Given the description of an element on the screen output the (x, y) to click on. 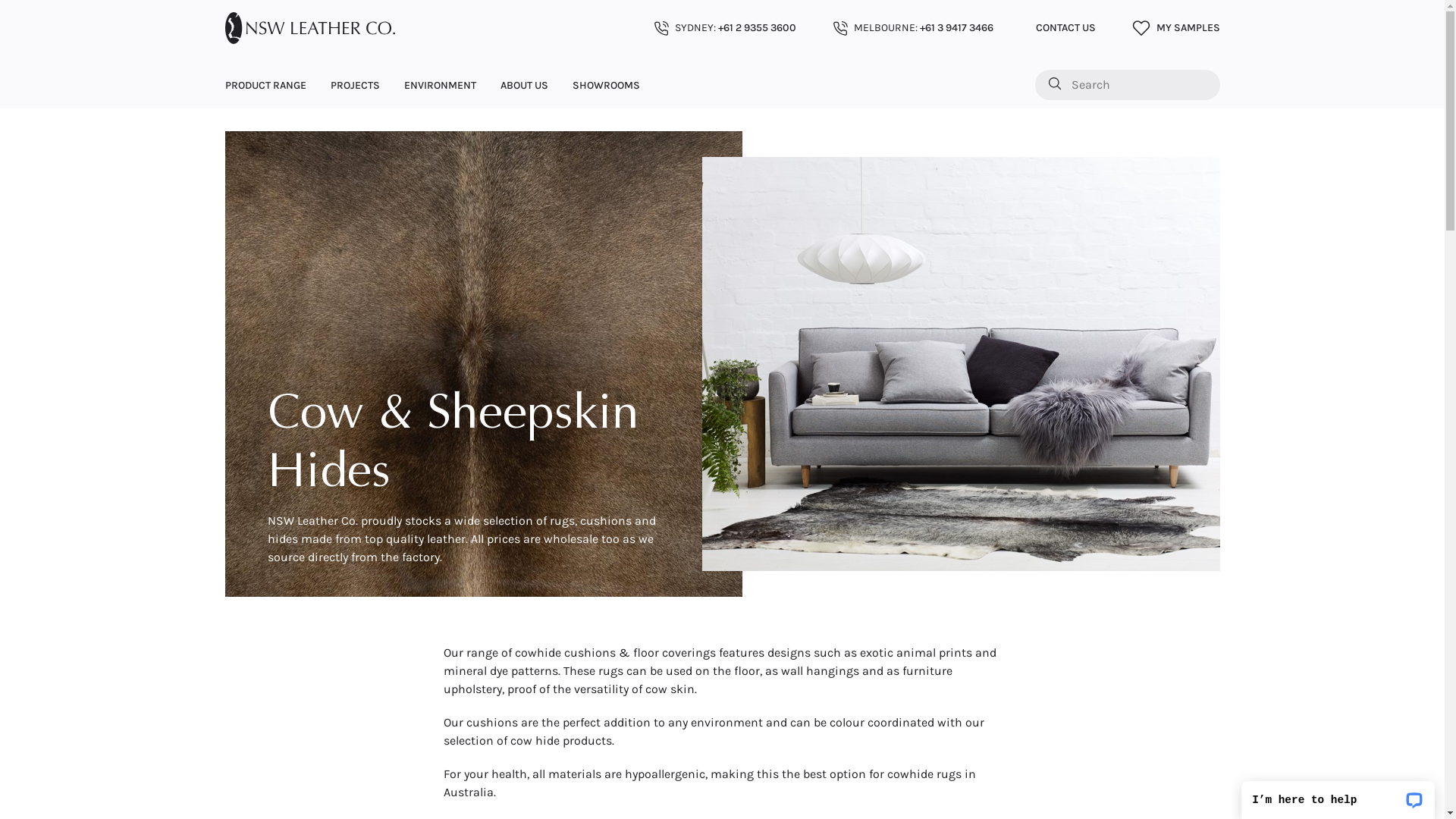
ABOUT US Element type: text (524, 84)
SHOWROOMS Element type: text (605, 84)
PROJECTS Element type: text (354, 84)
MELBOURNE: +61 3 9417 3466 Element type: text (912, 27)
ENVIRONMENT Element type: text (439, 84)
SYDNEY: +61 2 9355 3600 Element type: text (724, 27)
CONTACT US Element type: text (1062, 27)
MY SAMPLES Element type: text (1175, 27)
